Given the description of an element on the screen output the (x, y) to click on. 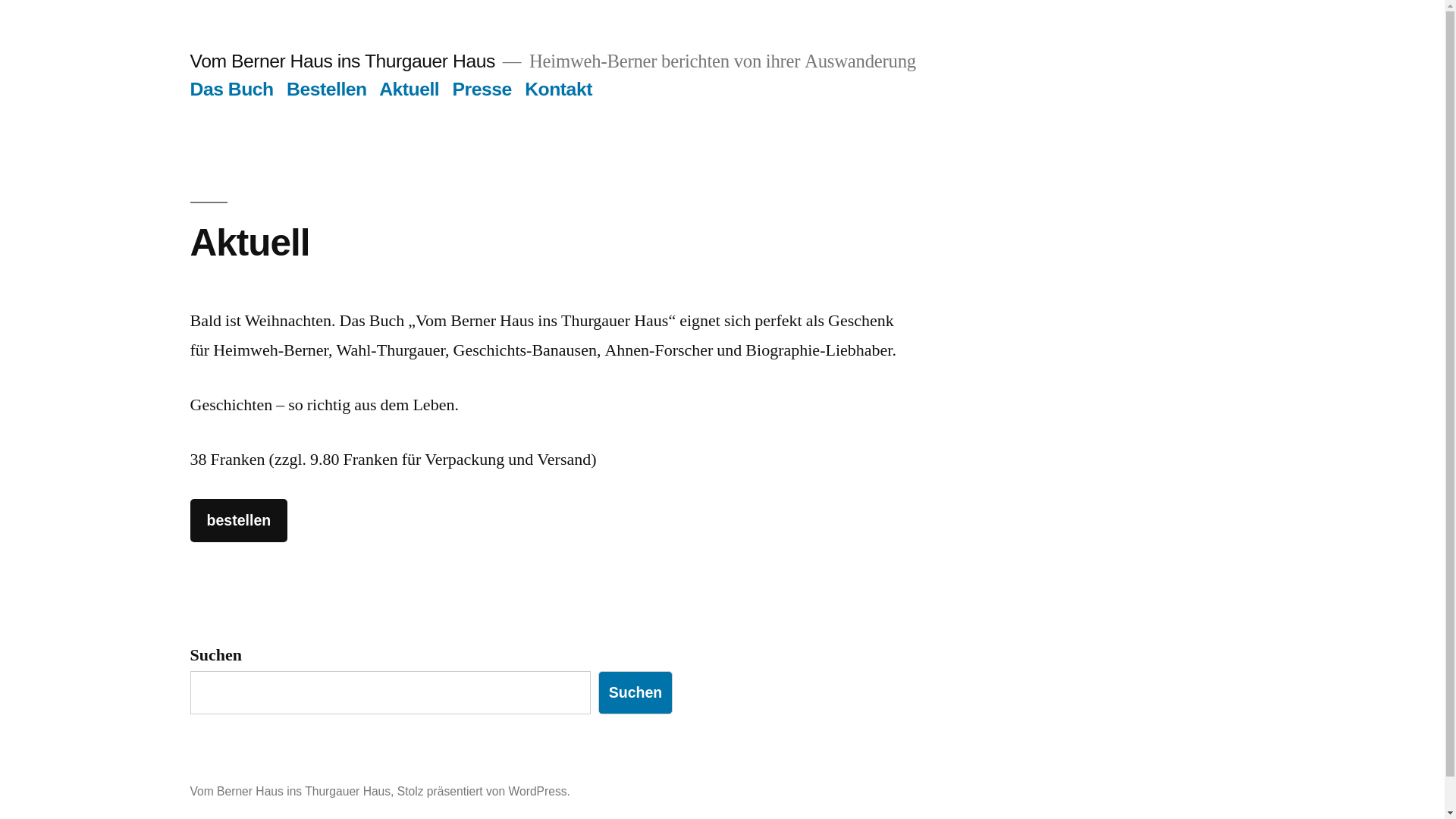
Kontakt Element type: text (558, 88)
Das Buch Element type: text (231, 88)
Vom Berner Haus ins Thurgauer Haus Element type: text (289, 790)
Presse Element type: text (481, 88)
Vom Berner Haus ins Thurgauer Haus Element type: text (341, 60)
Aktuell Element type: text (409, 88)
Suchen Element type: text (634, 692)
Bestellen Element type: text (326, 88)
bestellen Element type: text (238, 520)
